Given the description of an element on the screen output the (x, y) to click on. 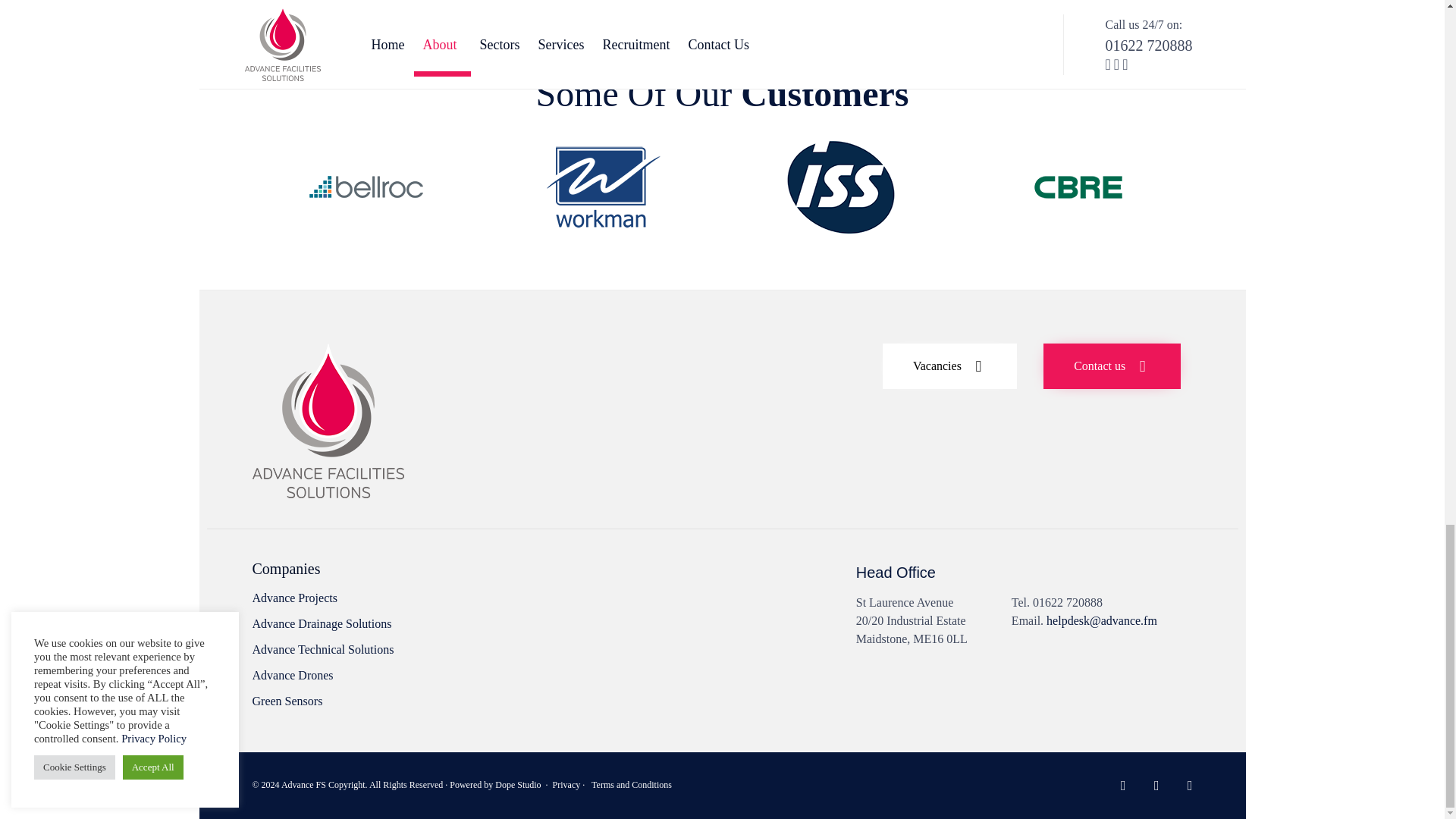
Some Of Our Customers (346, 597)
Vacancies (1111, 366)
